Given the description of an element on the screen output the (x, y) to click on. 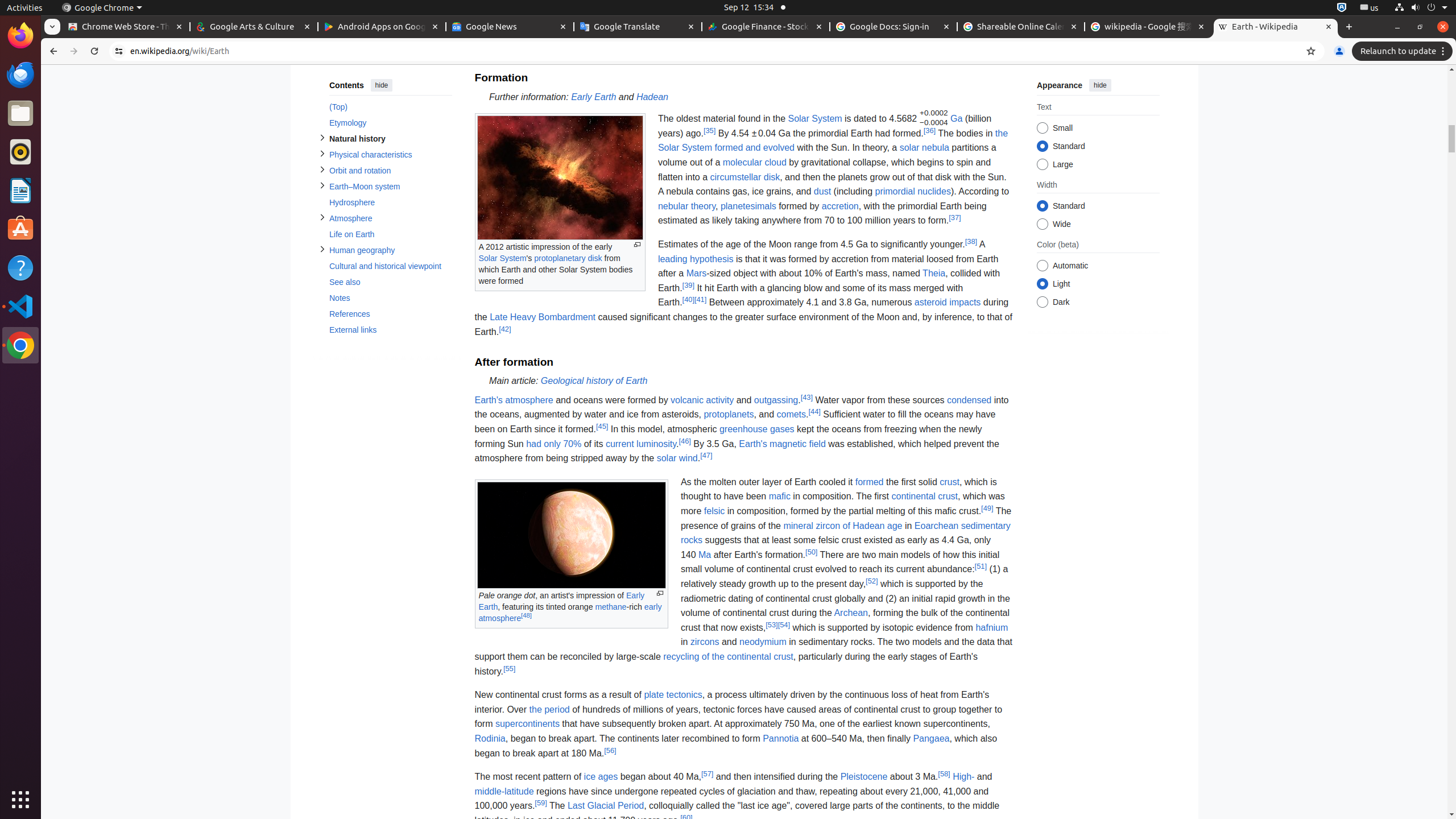
[49] Element type: link (987, 507)
Late Heavy Bombardment Element type: link (542, 316)
[46] Element type: link (684, 440)
protoplanets Element type: link (728, 414)
Ma Element type: link (704, 554)
